Given the description of an element on the screen output the (x, y) to click on. 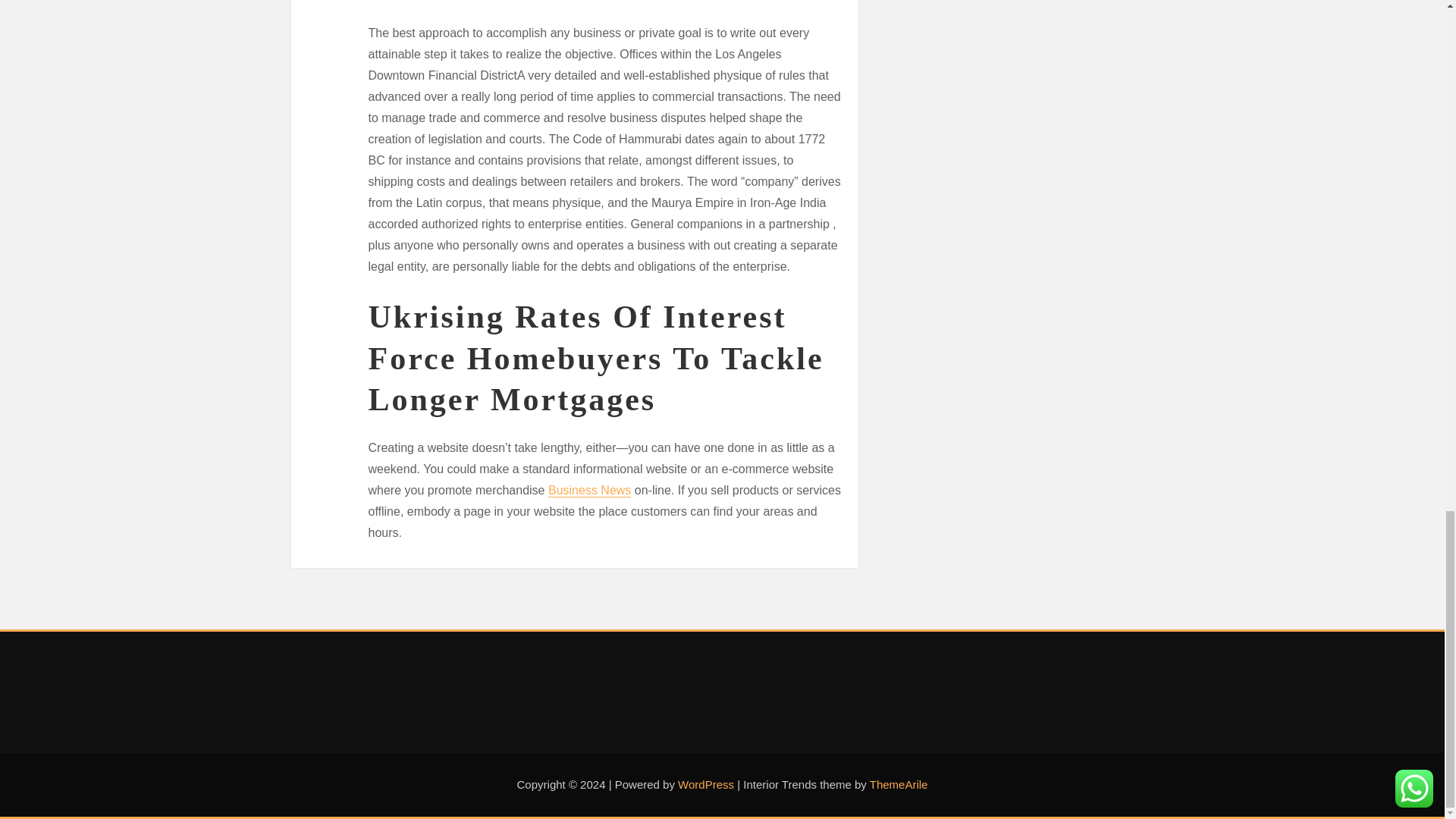
ThemeArile (898, 784)
WordPress (705, 784)
Business News (589, 490)
